Given the description of an element on the screen output the (x, y) to click on. 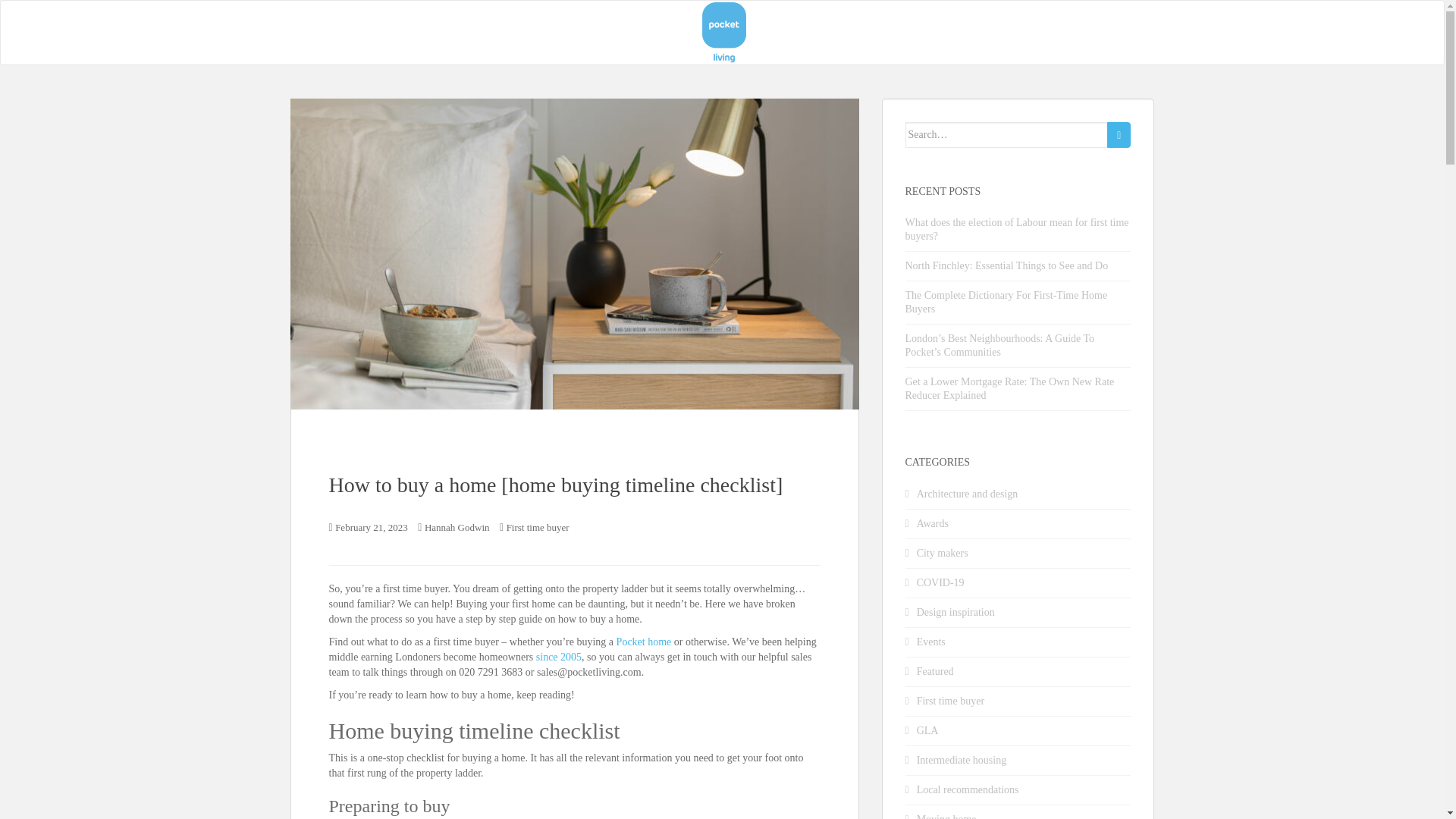
Featured (935, 671)
Events (930, 641)
Local recommendations (968, 789)
Design inspiration (955, 612)
Awards (933, 523)
since 2005 (557, 656)
February 21, 2023 (370, 527)
COVID-19 (940, 582)
The Complete Dictionary For First-Time Home Buyers (1006, 301)
